Given the description of an element on the screen output the (x, y) to click on. 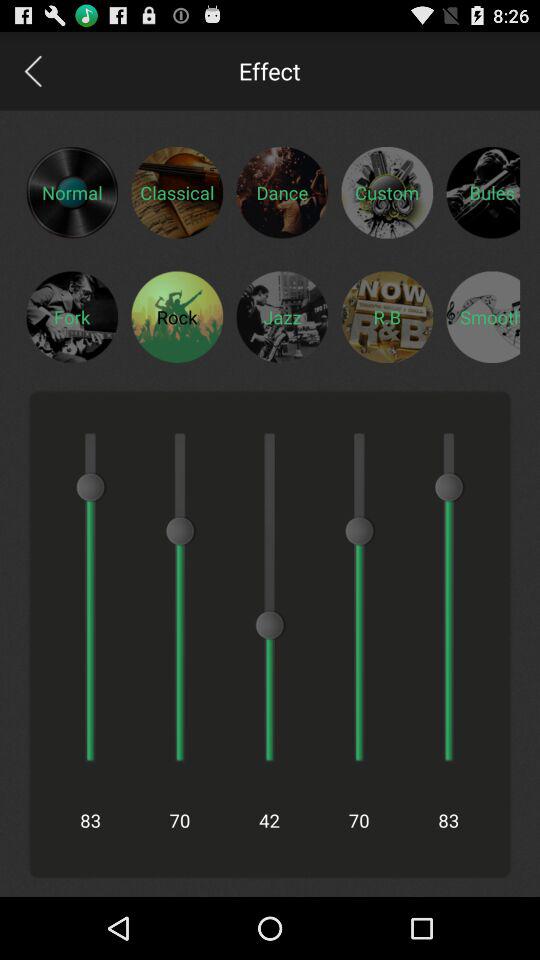
open bules (483, 191)
